Given the description of an element on the screen output the (x, y) to click on. 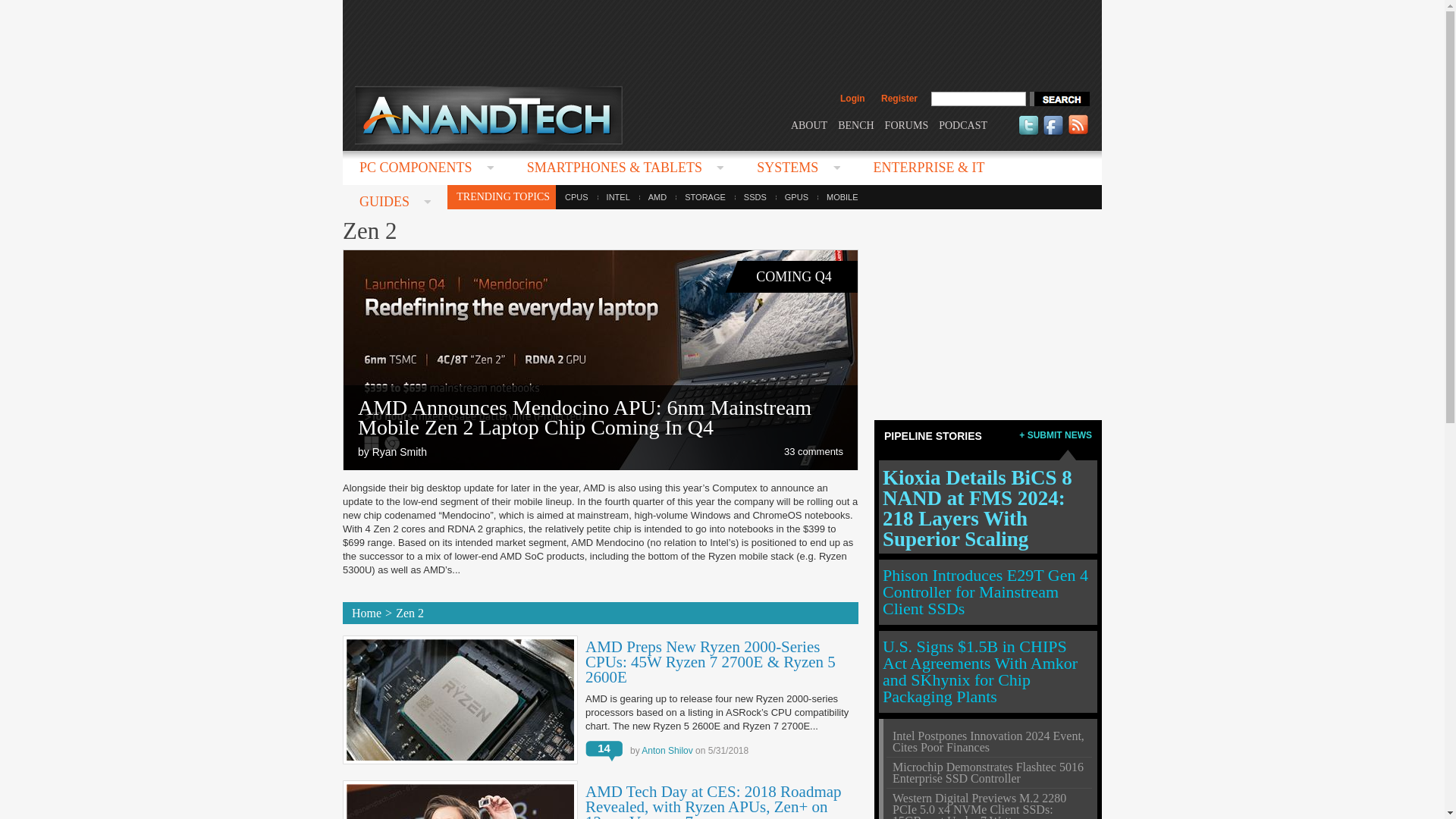
FORUMS (906, 125)
PODCAST (963, 125)
search (1059, 98)
search (1059, 98)
Register (898, 98)
search (1059, 98)
ABOUT (808, 125)
Login (852, 98)
BENCH (855, 125)
